Given the description of an element on the screen output the (x, y) to click on. 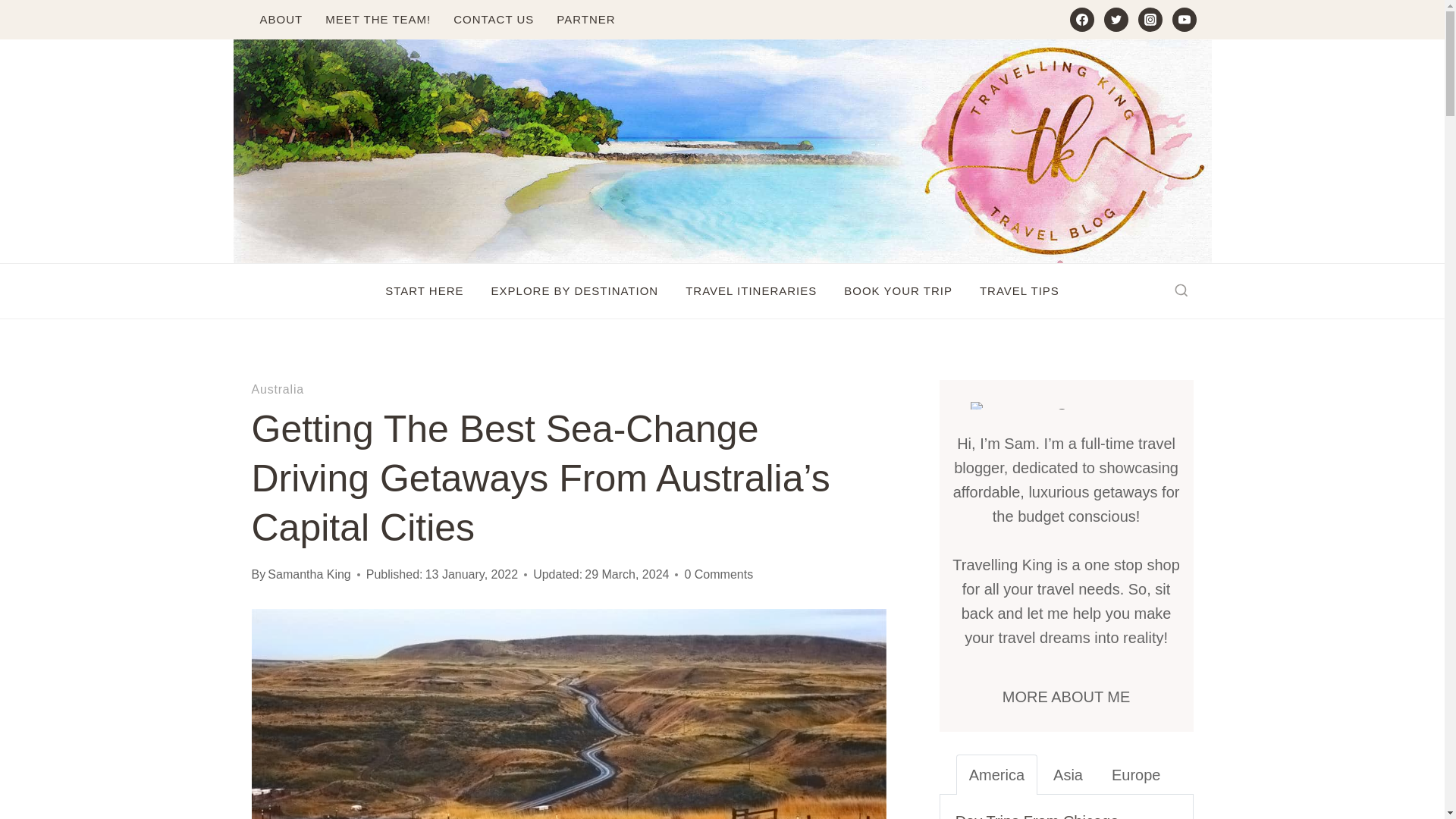
Samantha King (308, 574)
0 Comments (718, 574)
EXPLORE BY DESTINATION (574, 291)
MEET THE TEAM! (378, 20)
BOOK YOUR TRIP (897, 291)
START HERE (424, 291)
CONTACT US (493, 20)
TRAVEL TIPS (1019, 291)
ABOUT (281, 20)
TRAVEL ITINERARIES (750, 291)
